Given the description of an element on the screen output the (x, y) to click on. 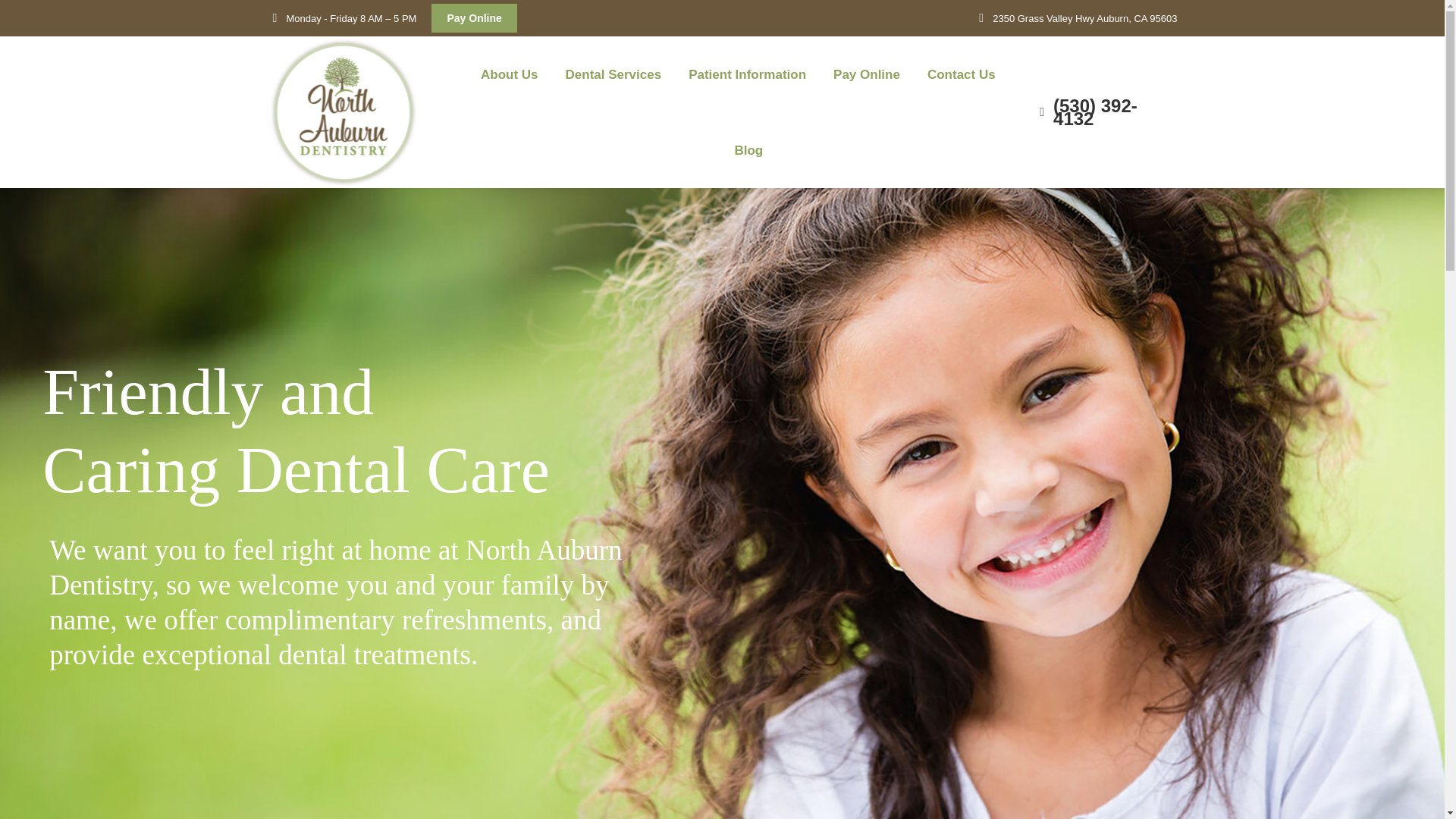
Pay Online (473, 18)
Contact Us (961, 73)
About Us (509, 73)
Pay Online (865, 73)
Patient Information (747, 73)
2350 Grass Valley Hwy Auburn, CA 95603 (1075, 17)
Dental Services (613, 73)
